Given the description of an element on the screen output the (x, y) to click on. 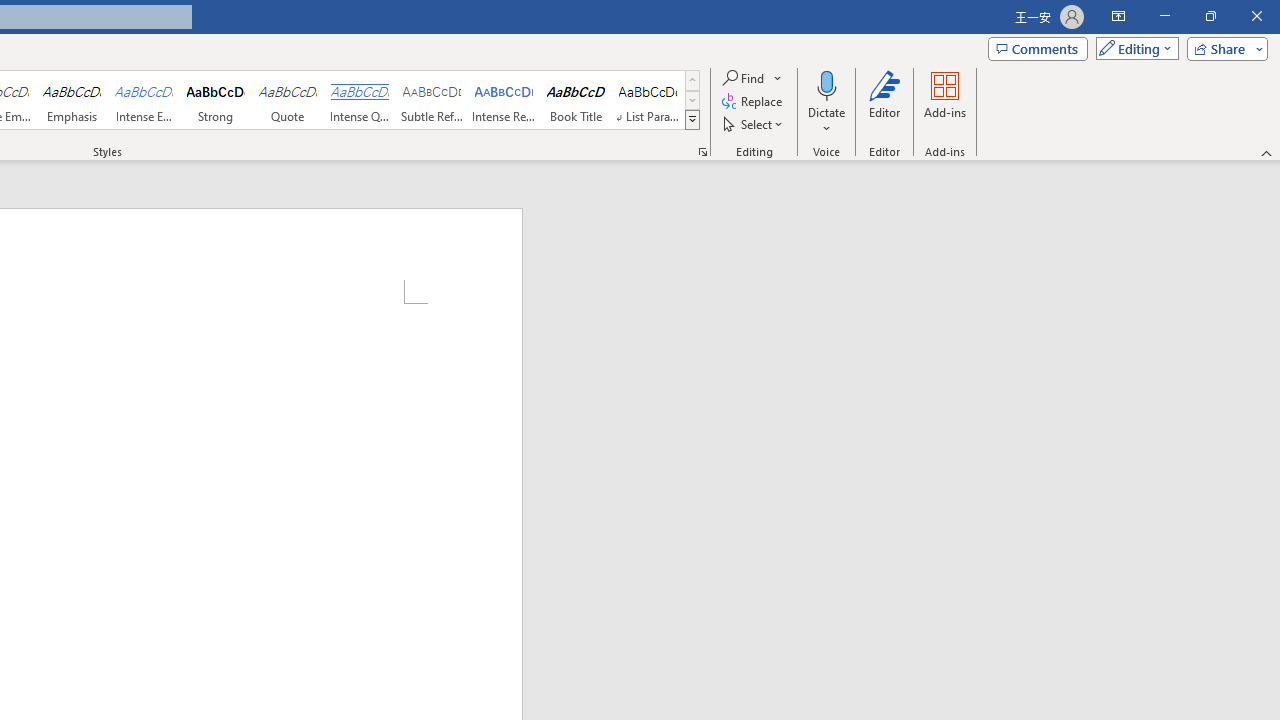
Minimize (1164, 16)
Close (1256, 16)
